Given the description of an element on the screen output the (x, y) to click on. 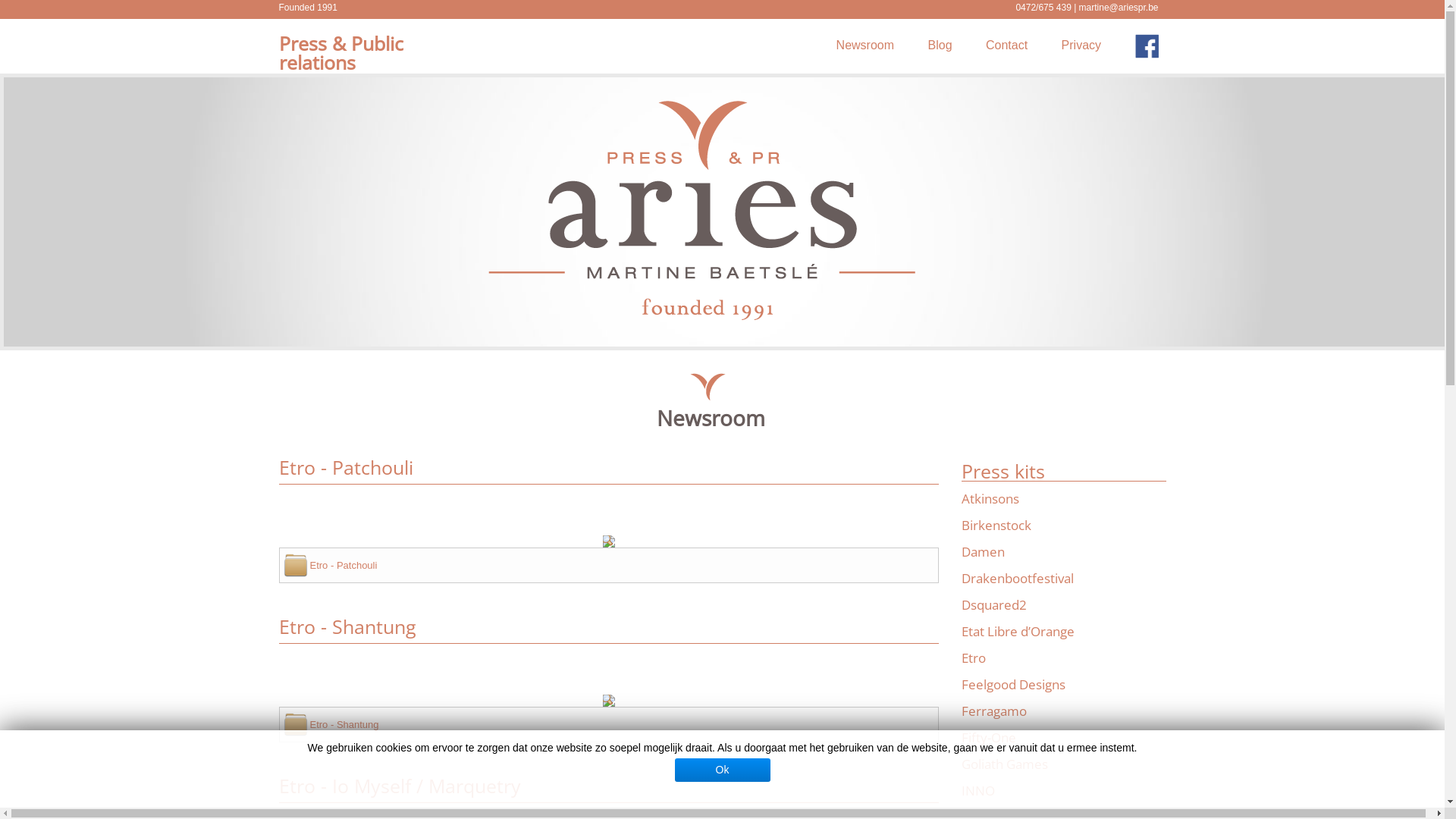
Etro - Shantung Element type: text (343, 724)
Etro - Patchouli Element type: text (346, 467)
Ferragamo Element type: text (993, 710)
Damen Element type: text (982, 551)
Privacy Element type: text (1081, 44)
Etro Element type: text (973, 657)
Contact Element type: text (1006, 44)
Goliath Games Element type: text (1004, 763)
Fifty-One Element type: text (988, 737)
Feelgood Designs Element type: text (1013, 684)
Blog Element type: text (940, 44)
Etro - Patchouli Element type: text (342, 565)
Drakenbootfestival Element type: text (1017, 577)
Birkenstock Element type: text (996, 524)
Newsroom Element type: text (865, 44)
Atkinsons Element type: text (990, 498)
Etro - Io Myself / Marquetry Element type: text (399, 785)
Press & Public relations Element type: text (341, 52)
Etro - Shantung Element type: text (347, 626)
Dsquared2 Element type: text (993, 604)
INNO Element type: text (977, 790)
